Given the description of an element on the screen output the (x, y) to click on. 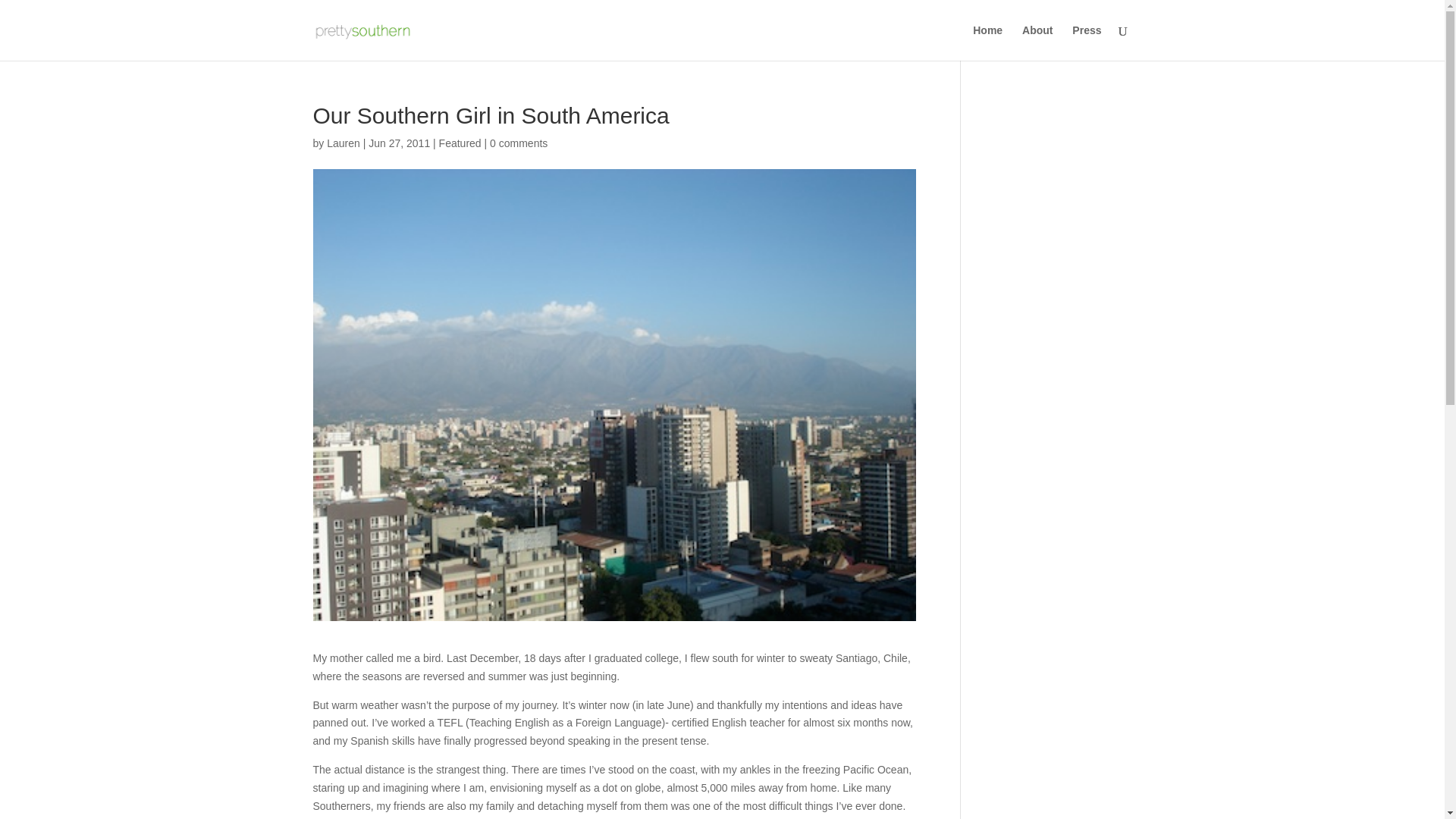
Featured (460, 143)
Posts by Lauren (342, 143)
Lauren (342, 143)
0 comments (518, 143)
